Given the description of an element on the screen output the (x, y) to click on. 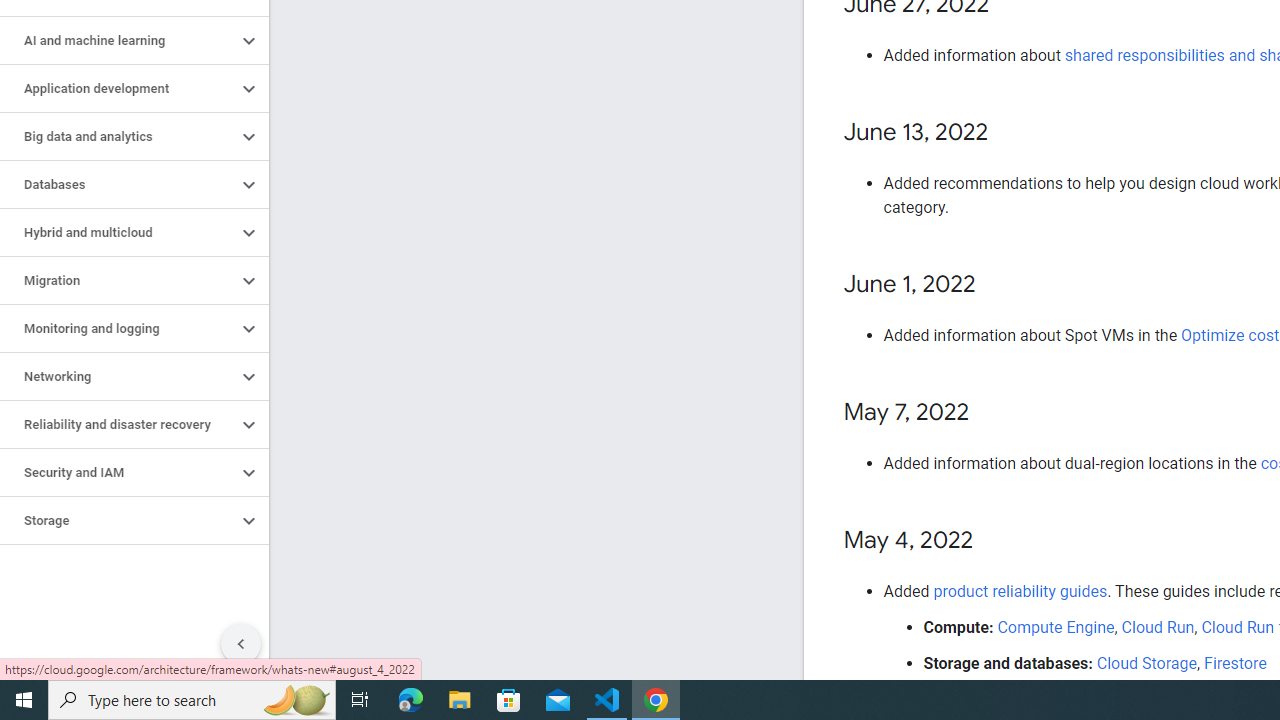
Reliability and disaster recovery (118, 425)
Big data and analytics (118, 137)
product reliability guides (1020, 591)
Copy link to this section: May 4, 2022 (992, 541)
Hybrid and multicloud (118, 232)
Compute Engine (1055, 627)
Storage (118, 520)
Firestore (1235, 663)
AI and machine learning (118, 40)
Networking (118, 376)
Migration (118, 281)
Cloud Run (1158, 627)
Copy link to this section: June 13, 2022 (1008, 133)
Copy link to this section: May 7, 2022 (988, 413)
